Given the description of an element on the screen output the (x, y) to click on. 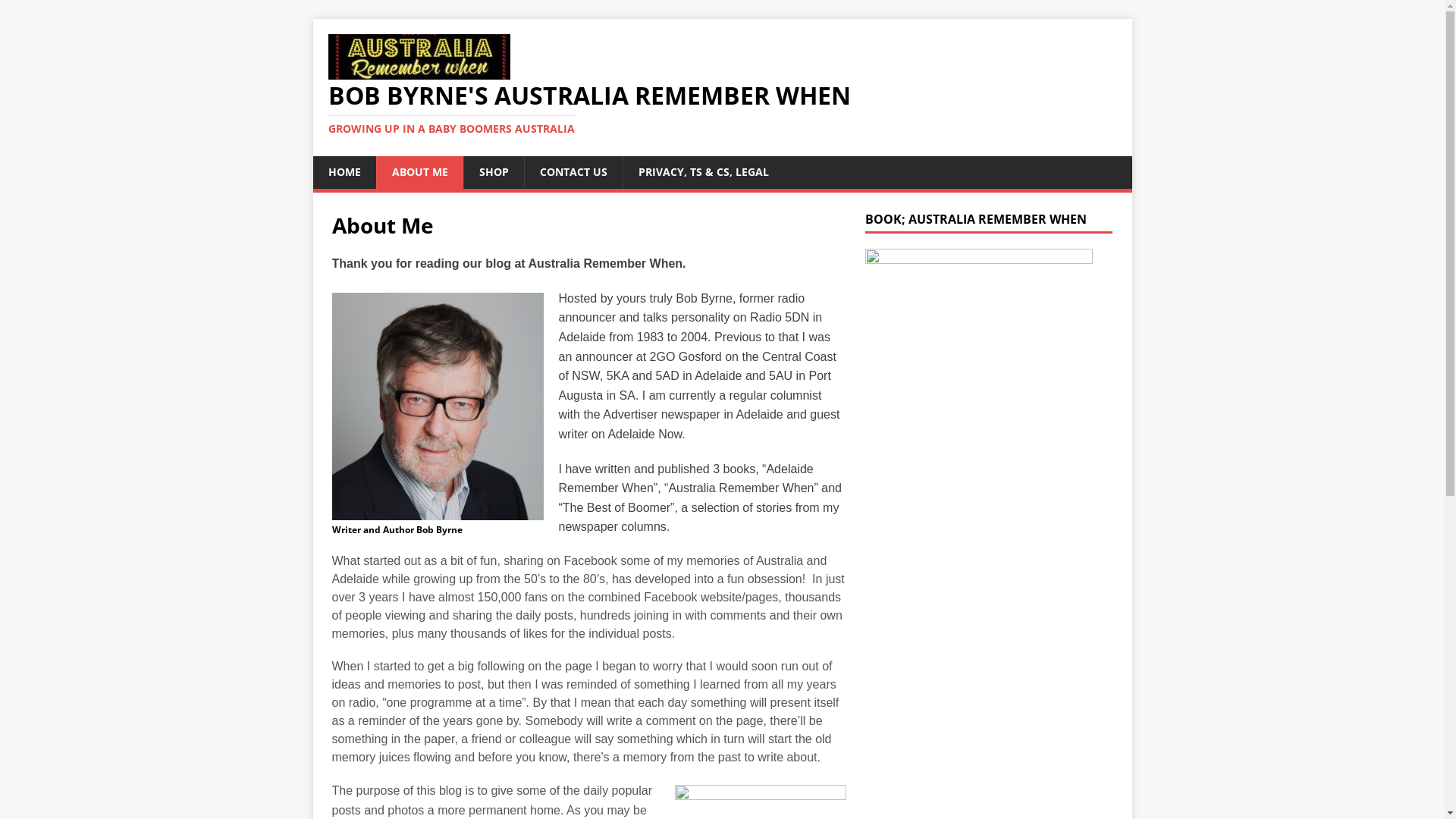
HOME Element type: text (343, 172)
ABOUT ME Element type: text (419, 172)
SHOP Element type: text (492, 172)
CONTACT US Element type: text (572, 172)
PRIVACY, TS & CS, LEGAL Element type: text (702, 172)
